Given the description of an element on the screen output the (x, y) to click on. 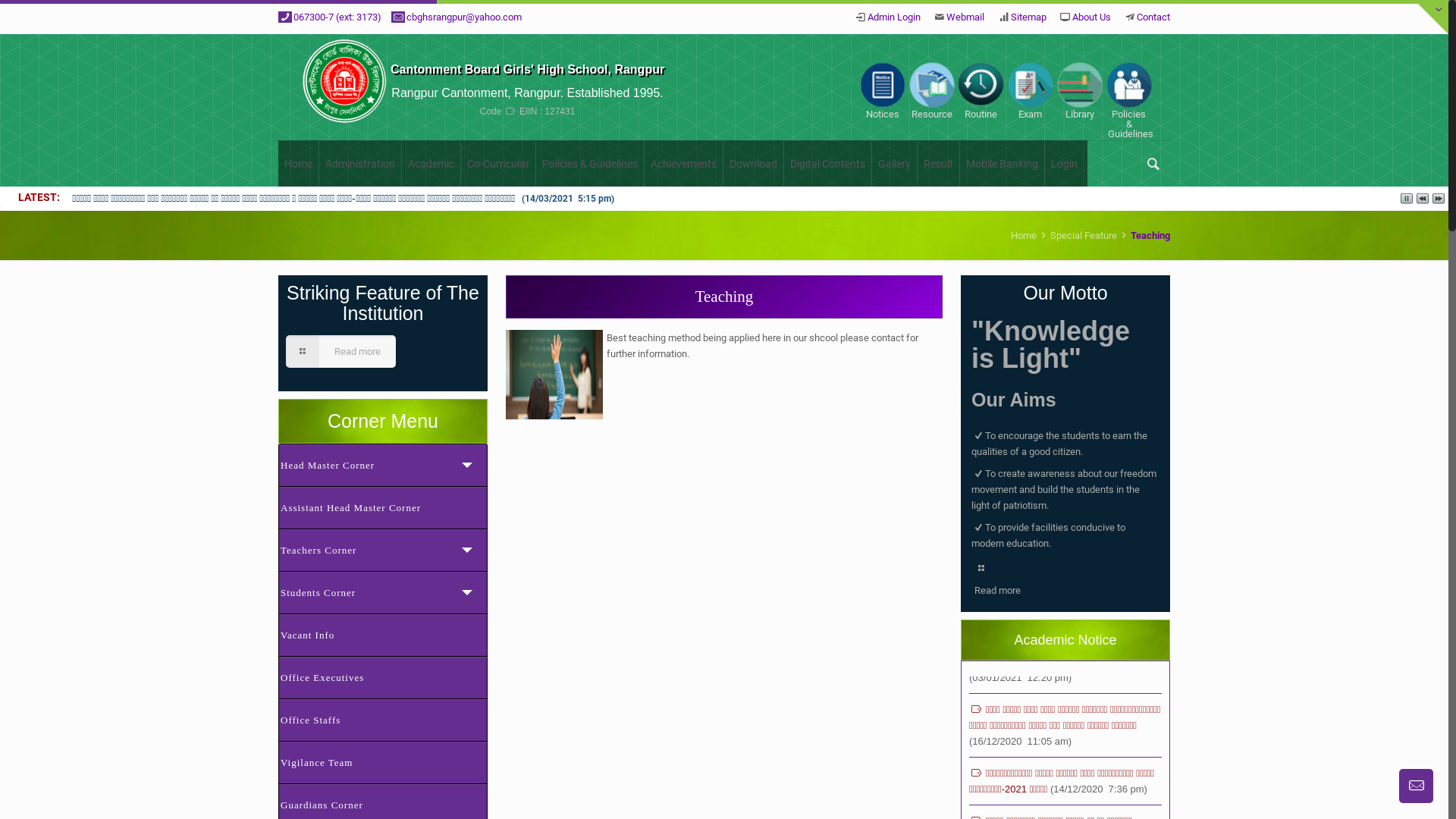
Policies & Guidelines Element type: text (1128, 100)
Office Staffs Element type: text (382, 719)
Digital Contents Element type: text (828, 163)
Login Element type: text (1063, 163)
Academic Element type: text (431, 163)
Routine Element type: text (980, 90)
Webmail Element type: text (965, 16)
Gallery Element type: text (894, 163)
Sitemap Element type: text (1028, 16)
Home Element type: text (1023, 235)
Search Element type: text (30, 14)
Download Element type: text (753, 163)
Administration Element type: text (360, 163)
Exam Element type: text (1030, 90)
Students Corner Element type: text (382, 592)
Office Executives Element type: text (382, 676)
Contact Element type: text (1153, 16)
Library Element type: text (1079, 90)
Vacant Info Element type: text (382, 634)
Vigilance Team Element type: text (382, 761)
Admin Login Element type: text (893, 16)
Result Element type: text (938, 163)
cbghsrangpur@yahoo.com Element type: text (463, 16)
Special Feature Element type: text (1083, 235)
Resource Element type: text (931, 90)
Mobile Banking Element type: text (1002, 163)
Head Master Corner Element type: text (382, 464)
Policies & Guidelines Element type: text (590, 163)
Achievements Element type: text (683, 163)
Read more Element type: text (340, 351)
Edu Institute Element type: hover (344, 87)
Assistant Head Master Corner Element type: text (382, 507)
067300-7 (ext: 3173) Element type: text (337, 16)
Cantonment Board Girls' High School, Rangpur Element type: text (527, 68)
Notices Element type: text (882, 90)
Co-Curricular Element type: text (498, 163)
Home Element type: text (298, 163)
Teachers Corner Element type: text (382, 549)
About Us Element type: text (1091, 16)
